Given the description of an element on the screen output the (x, y) to click on. 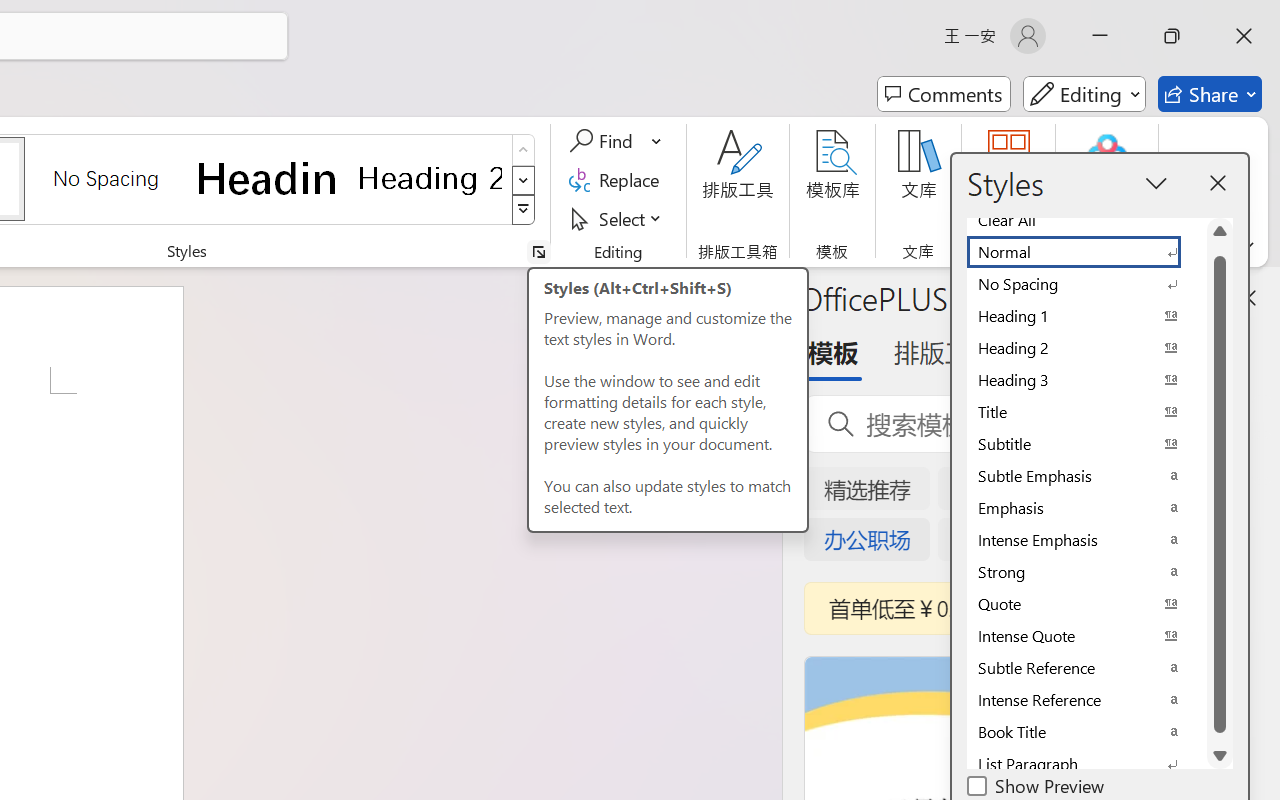
Share (1210, 94)
Subtitle (1086, 443)
Minimize (1099, 36)
Task Pane Options (1186, 297)
Styles... (538, 252)
No Spacing (1086, 284)
Strong (1086, 572)
Heading 1 (267, 178)
List Paragraph (1086, 764)
Restore Down (1172, 36)
Comments (943, 94)
Intense Emphasis (1086, 540)
